Given the description of an element on the screen output the (x, y) to click on. 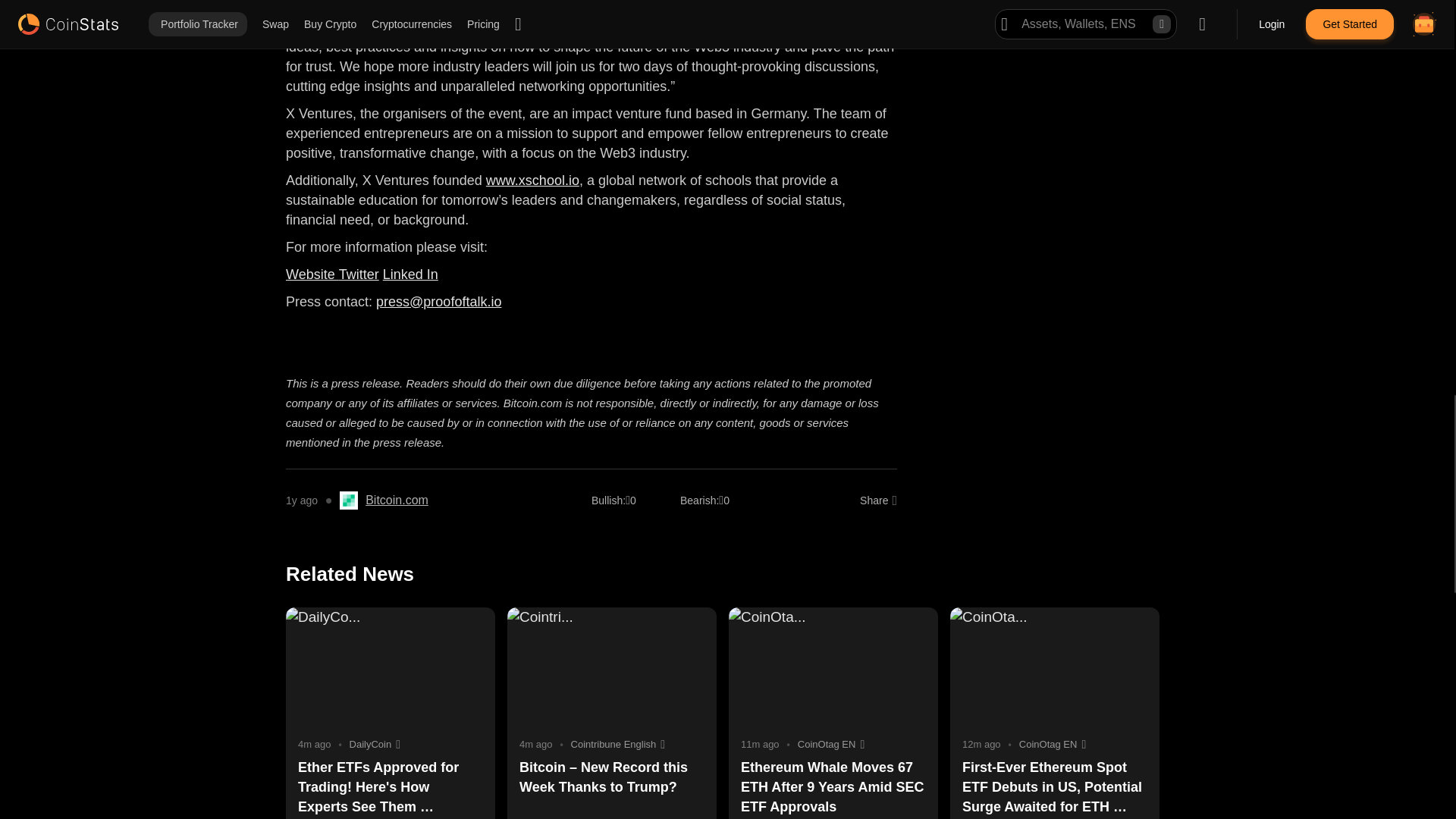
bearish (699, 500)
bullish (608, 500)
Website (312, 273)
www.xschool.io (532, 180)
